Given the description of an element on the screen output the (x, y) to click on. 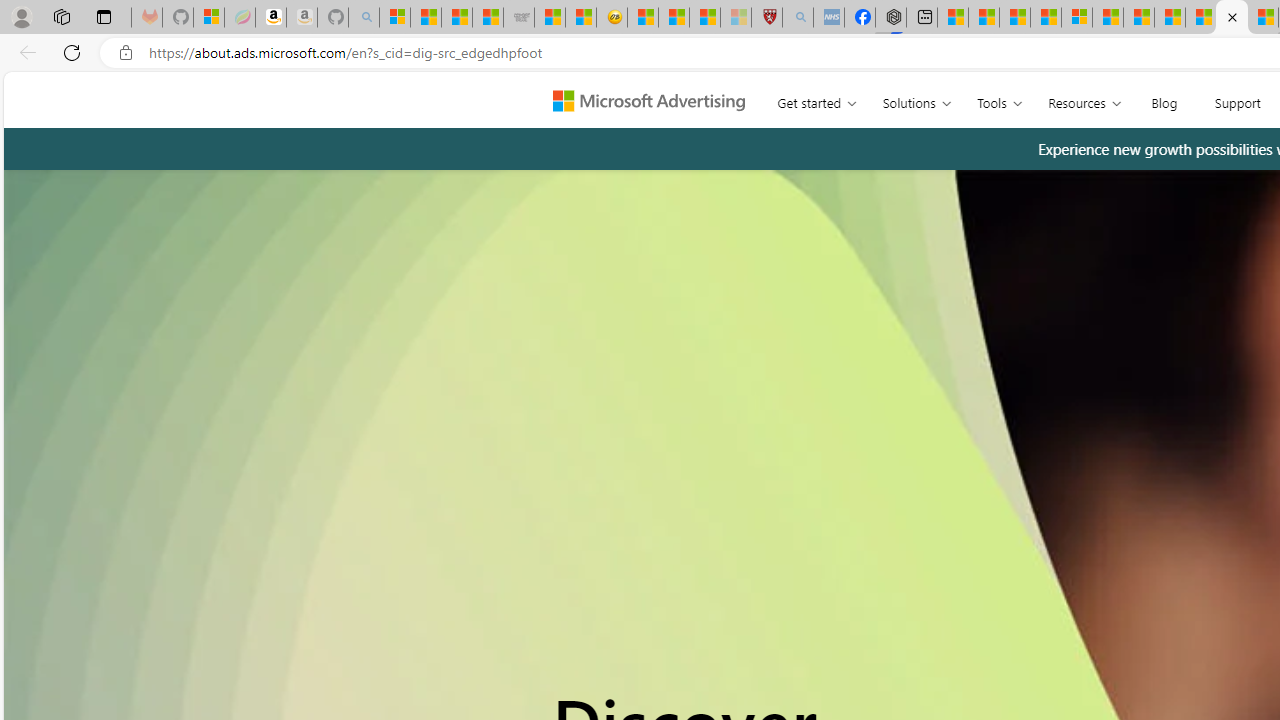
Microsoft Advertising (656, 99)
Trusted Community Engagement and Contributions | Guidelines (1200, 17)
Support (1236, 98)
